Given the description of an element on the screen output the (x, y) to click on. 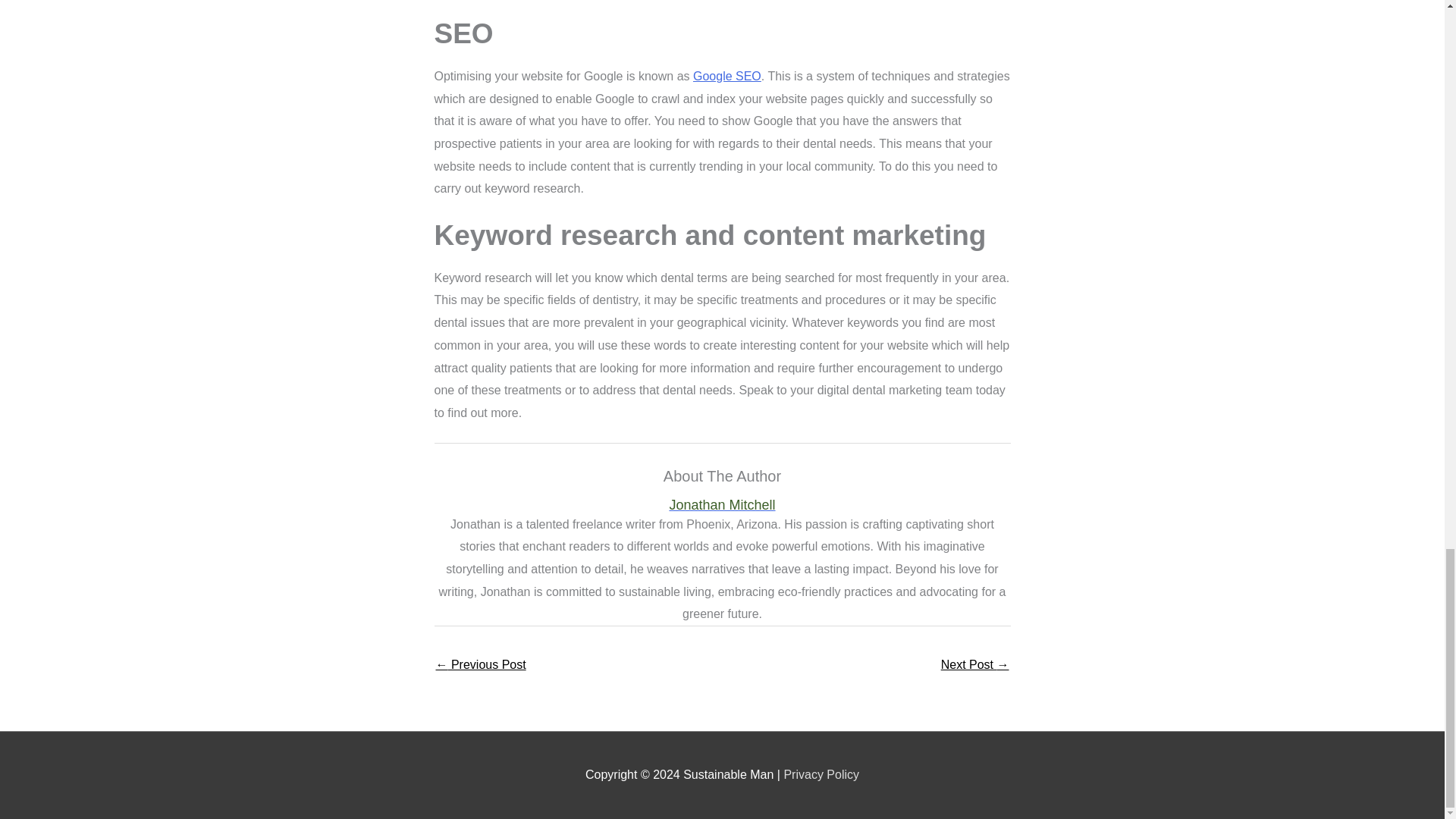
Sustainable Improvements to Make In Your Office (974, 665)
Jonathan Mitchell (721, 505)
Google SEO (727, 75)
Reasons Why Men are Prone to Danger (480, 665)
Privacy Policy (821, 774)
